Given the description of an element on the screen output the (x, y) to click on. 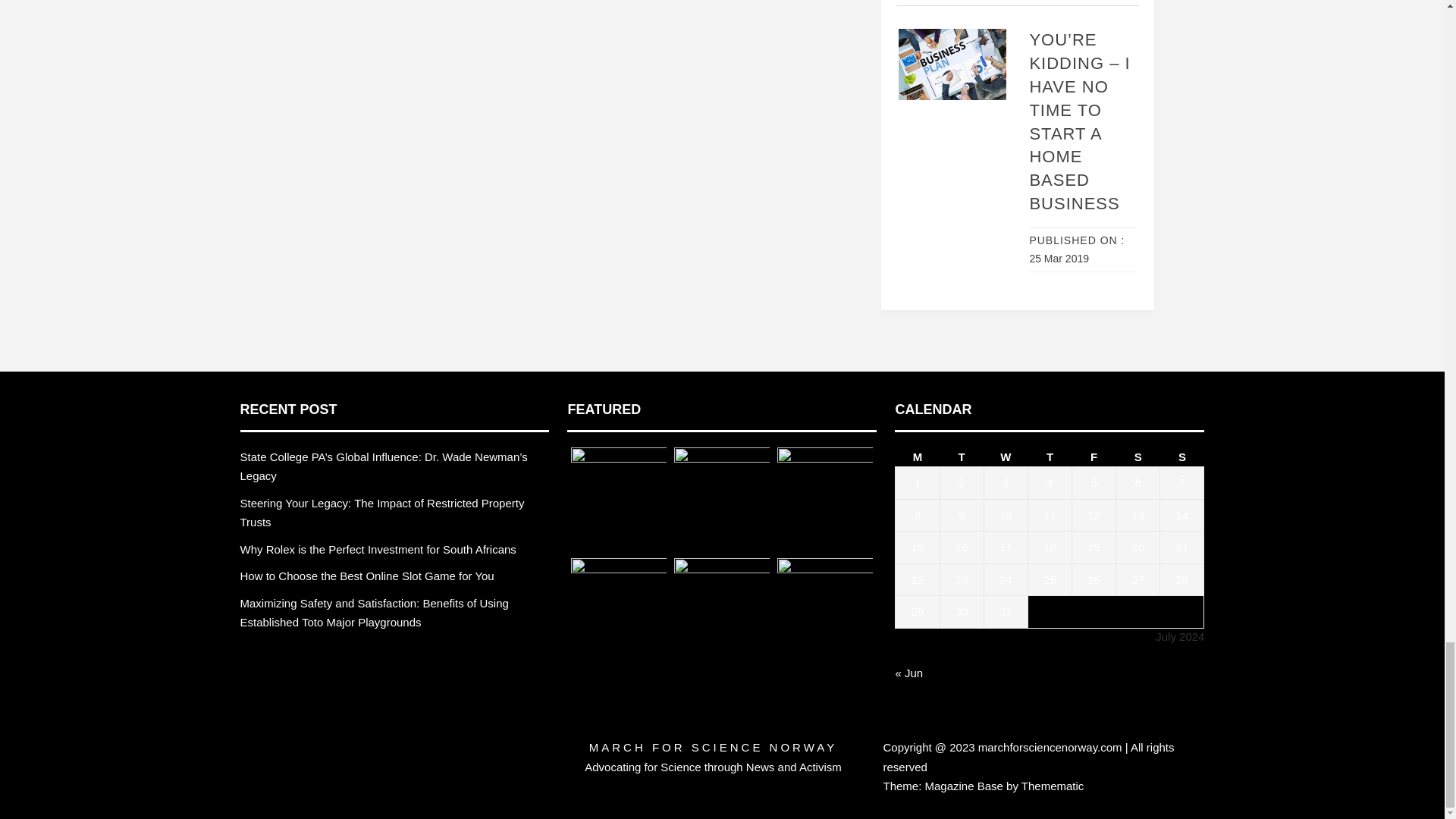
Wednesday (1005, 456)
Monday (917, 456)
Tuesday (961, 456)
Thursday (1049, 456)
Sunday (1182, 456)
Friday (1093, 456)
Saturday (1138, 456)
